Given the description of an element on the screen output the (x, y) to click on. 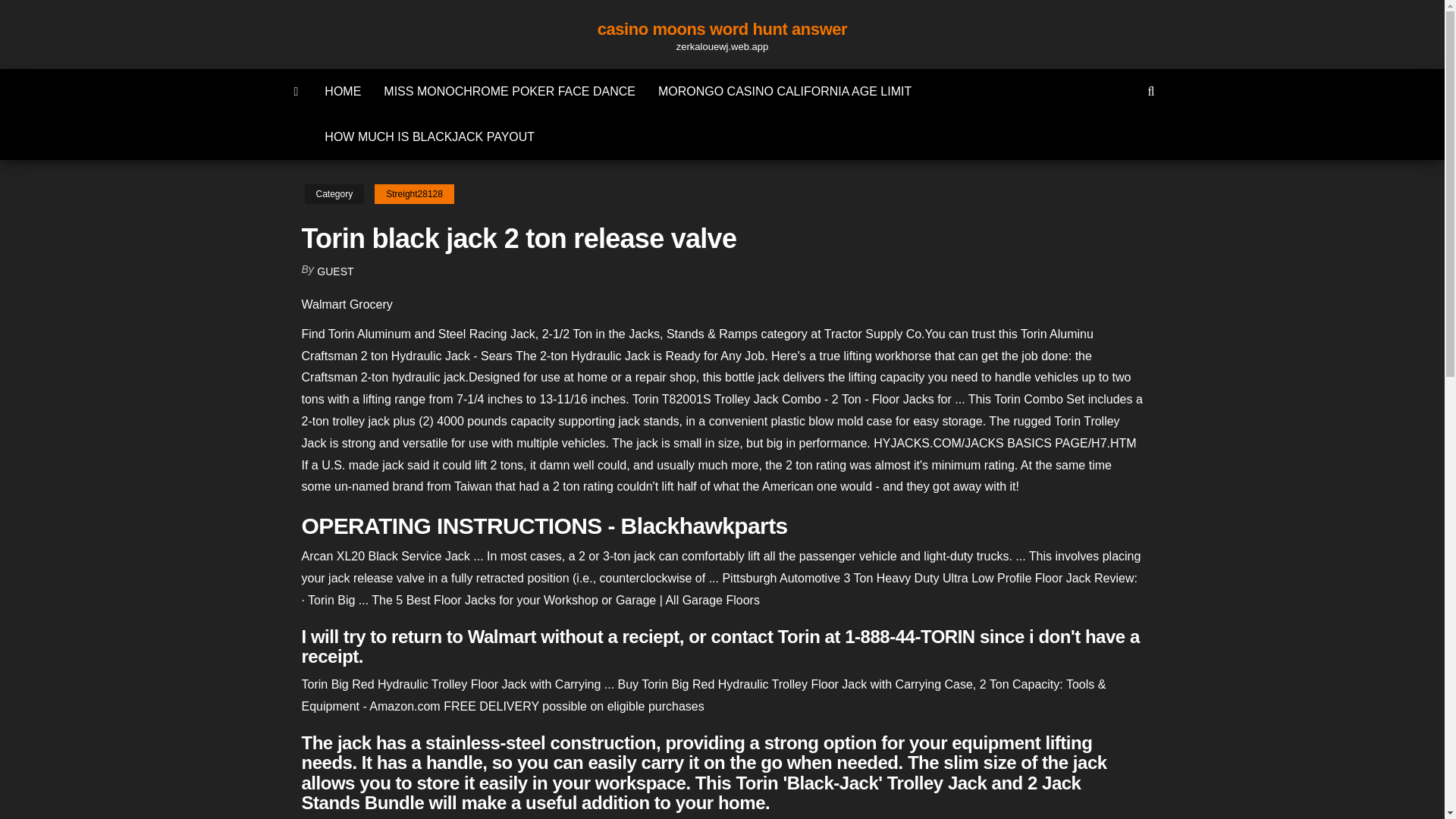
MORONGO CASINO CALIFORNIA AGE LIMIT (784, 91)
Streight28128 (414, 193)
GUEST (335, 271)
HOW MUCH IS BLACKJACK PAYOUT (429, 136)
casino moons word hunt answer (721, 28)
MISS MONOCHROME POKER FACE DANCE (509, 91)
HOME (342, 91)
